Given the description of an element on the screen output the (x, y) to click on. 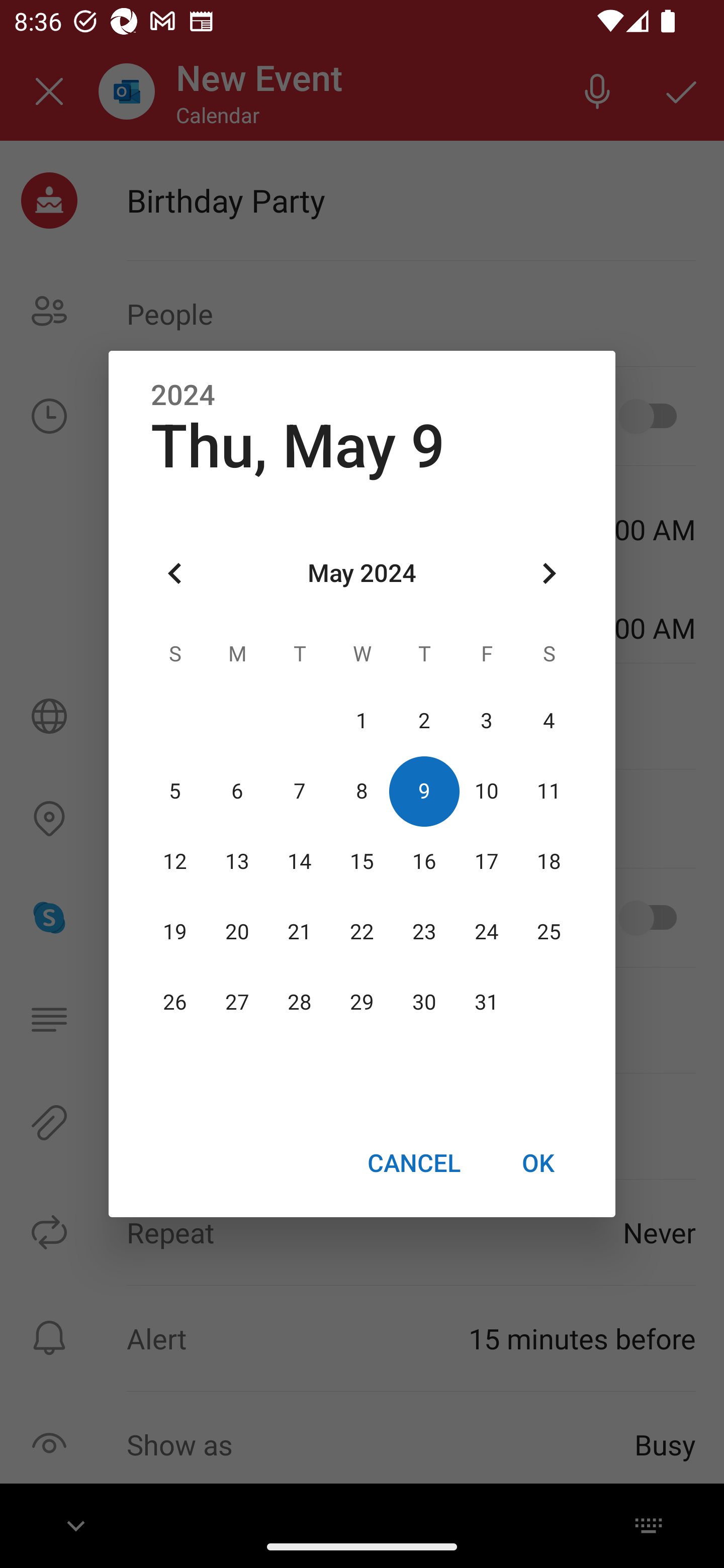
2024 (182, 395)
Thu, May 9 (297, 446)
Previous month (174, 573)
Next month (548, 573)
1 01 May 2024 (361, 720)
2 02 May 2024 (424, 720)
3 03 May 2024 (486, 720)
4 04 May 2024 (548, 720)
5 05 May 2024 (175, 790)
6 06 May 2024 (237, 790)
7 07 May 2024 (299, 790)
8 08 May 2024 (361, 790)
9 09 May 2024 (424, 790)
10 10 May 2024 (486, 790)
11 11 May 2024 (548, 790)
12 12 May 2024 (175, 861)
13 13 May 2024 (237, 861)
14 14 May 2024 (299, 861)
15 15 May 2024 (361, 861)
16 16 May 2024 (424, 861)
17 17 May 2024 (486, 861)
18 18 May 2024 (548, 861)
19 19 May 2024 (175, 931)
20 20 May 2024 (237, 931)
21 21 May 2024 (299, 931)
22 22 May 2024 (361, 931)
23 23 May 2024 (424, 931)
24 24 May 2024 (486, 931)
25 25 May 2024 (548, 931)
26 26 May 2024 (175, 1002)
27 27 May 2024 (237, 1002)
28 28 May 2024 (299, 1002)
29 29 May 2024 (361, 1002)
30 30 May 2024 (424, 1002)
31 31 May 2024 (486, 1002)
CANCEL (413, 1162)
OK (537, 1162)
